Given the description of an element on the screen output the (x, y) to click on. 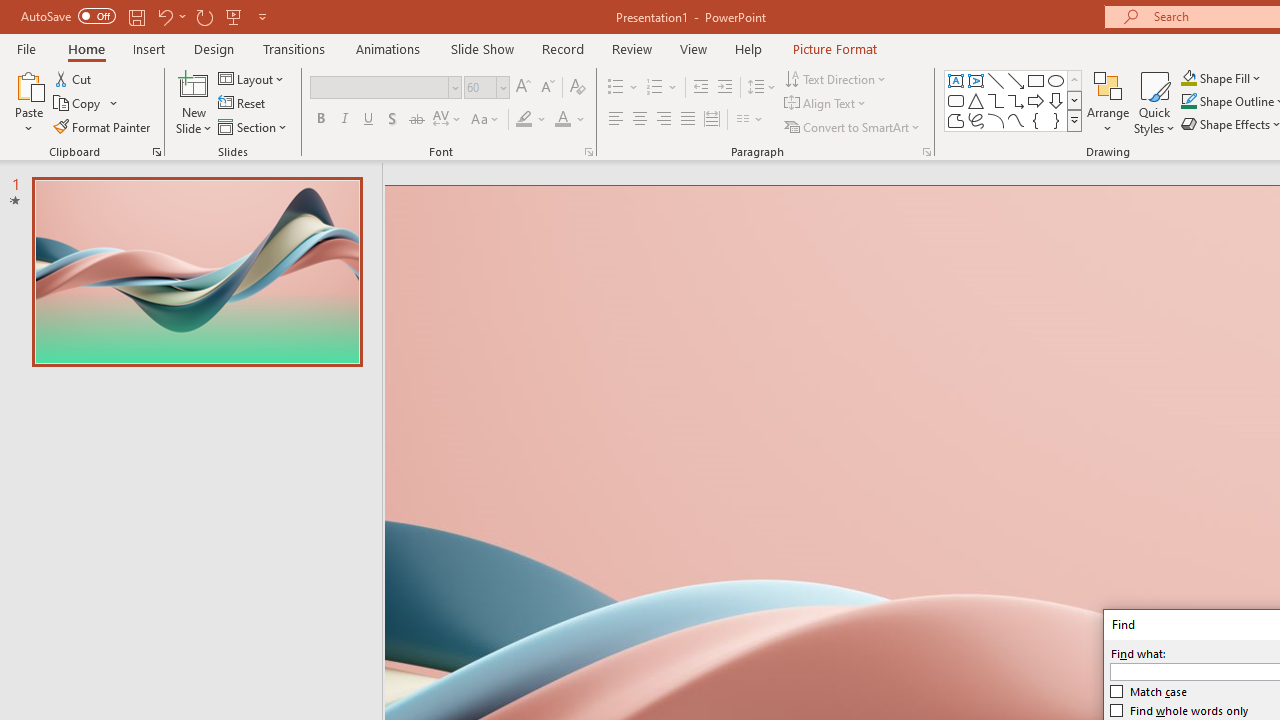
Font Color (569, 119)
Center (639, 119)
Match case (1149, 691)
Distributed (712, 119)
Underline (369, 119)
Freeform: Shape (955, 120)
Change Case (486, 119)
Arrow: Down (1055, 100)
